Given the description of an element on the screen output the (x, y) to click on. 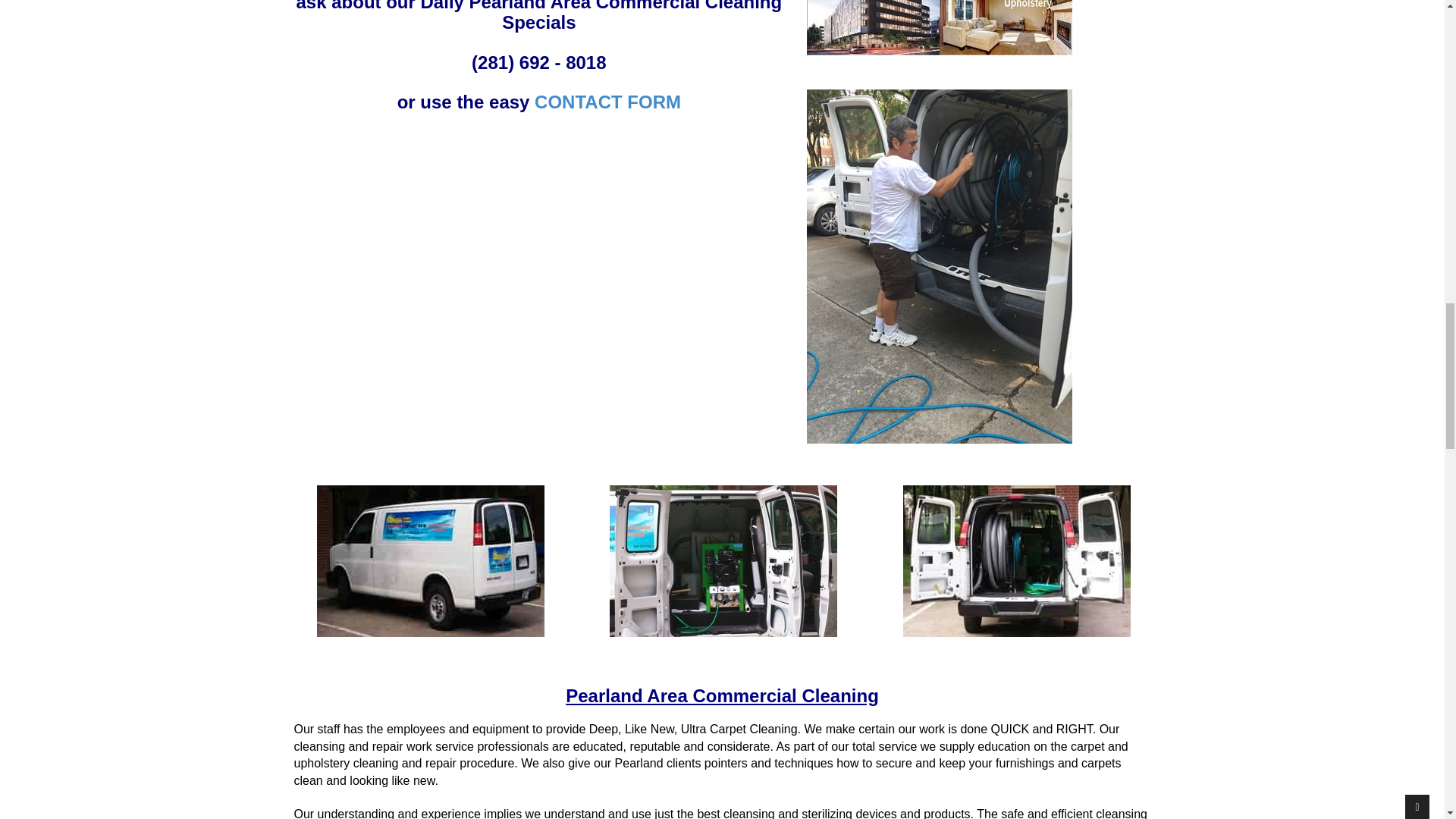
CONTACT FORM (607, 101)
